Given the description of an element on the screen output the (x, y) to click on. 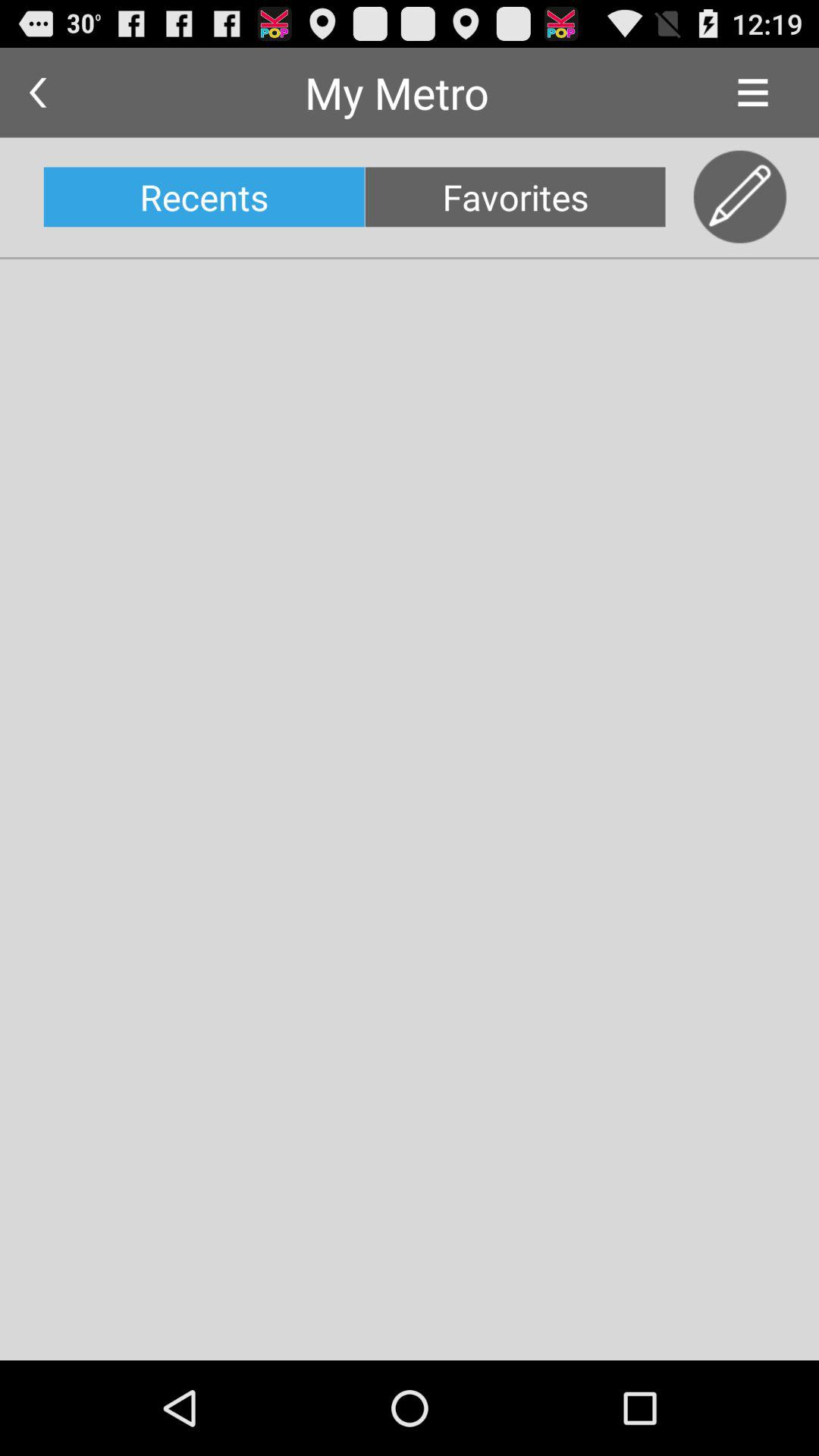
turn off the favorites (515, 196)
